Given the description of an element on the screen output the (x, y) to click on. 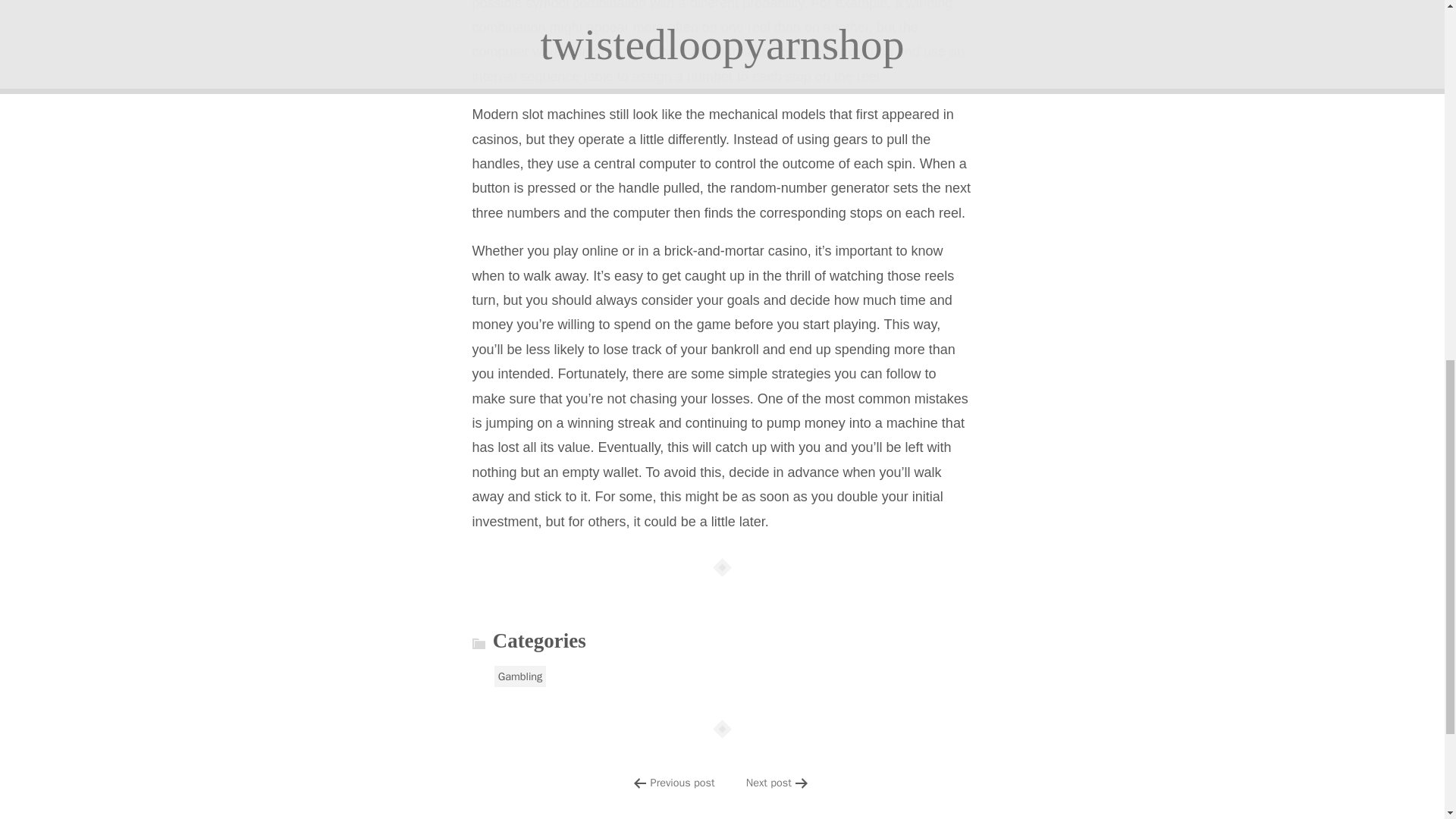
Gambling (521, 676)
Next post (768, 782)
Previous post (682, 782)
